Given the description of an element on the screen output the (x, y) to click on. 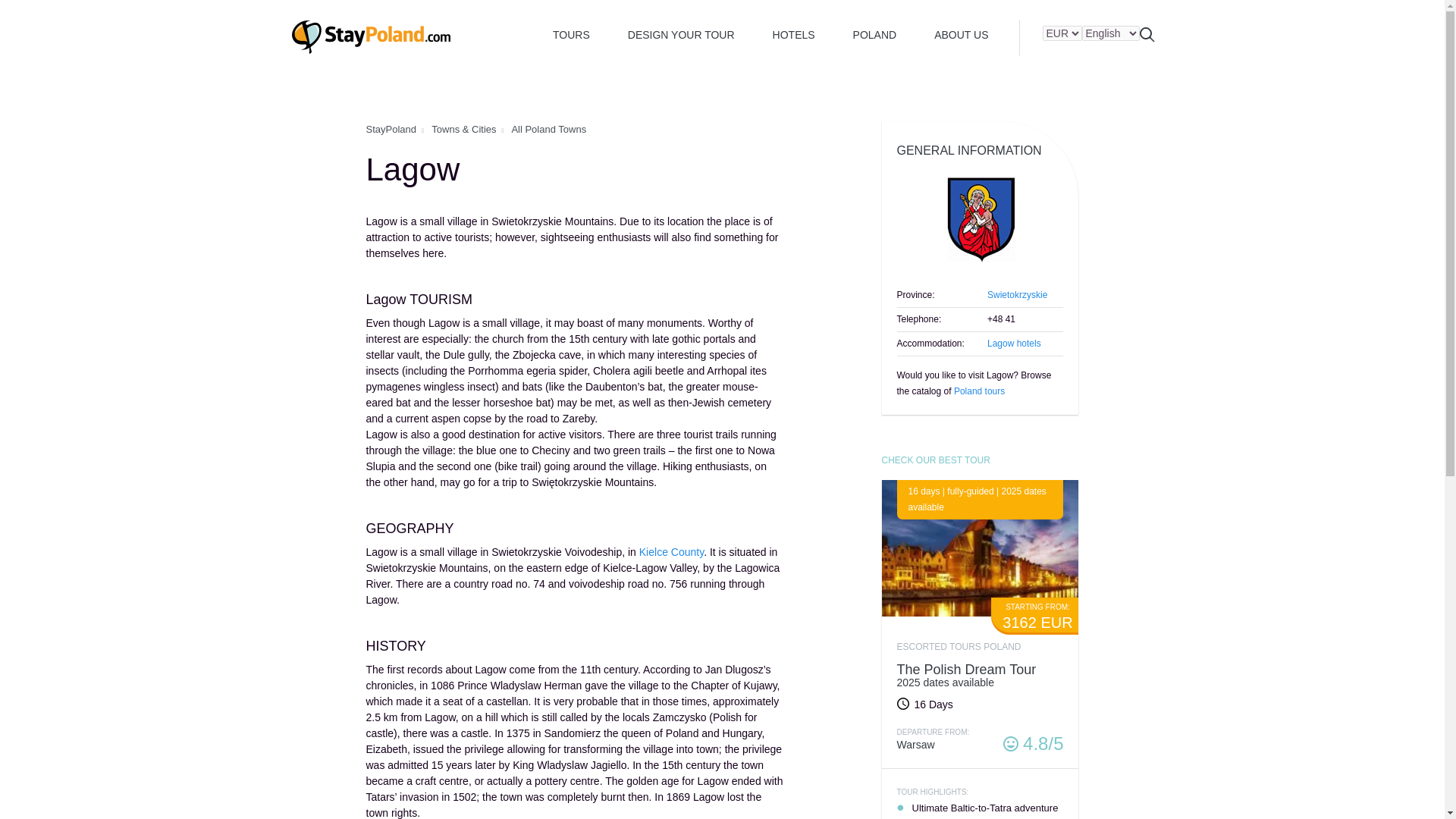
StayPoland (390, 129)
POLAND (874, 34)
All Poland Towns (548, 129)
Kielce County (671, 551)
Lagow hotels (979, 675)
HOTELS (1014, 343)
Warsaw (794, 34)
DESIGN YOUR TOUR (915, 744)
Poland tours (680, 34)
